Given the description of an element on the screen output the (x, y) to click on. 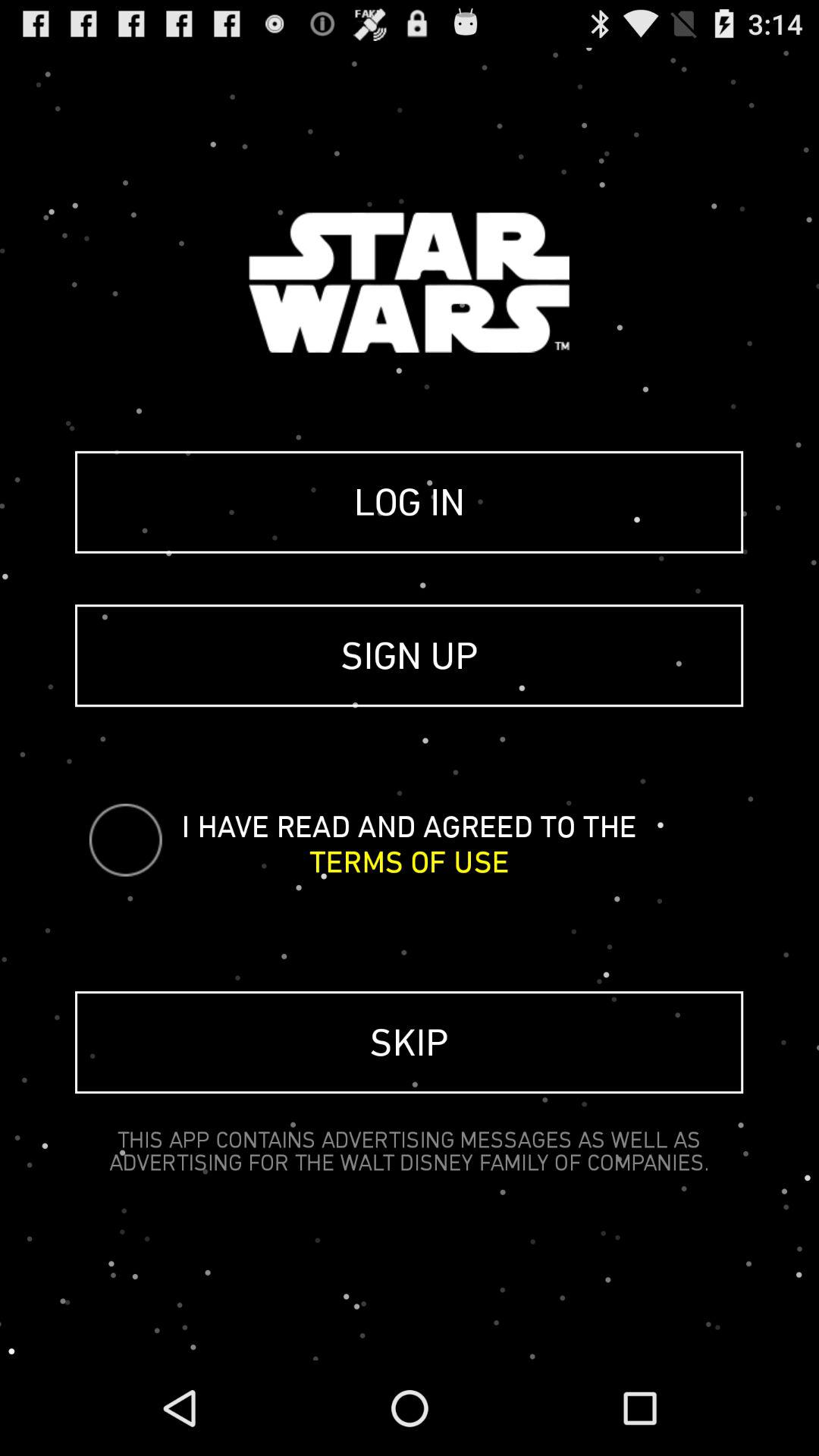
launch the item below the i have read icon (409, 861)
